Given the description of an element on the screen output the (x, y) to click on. 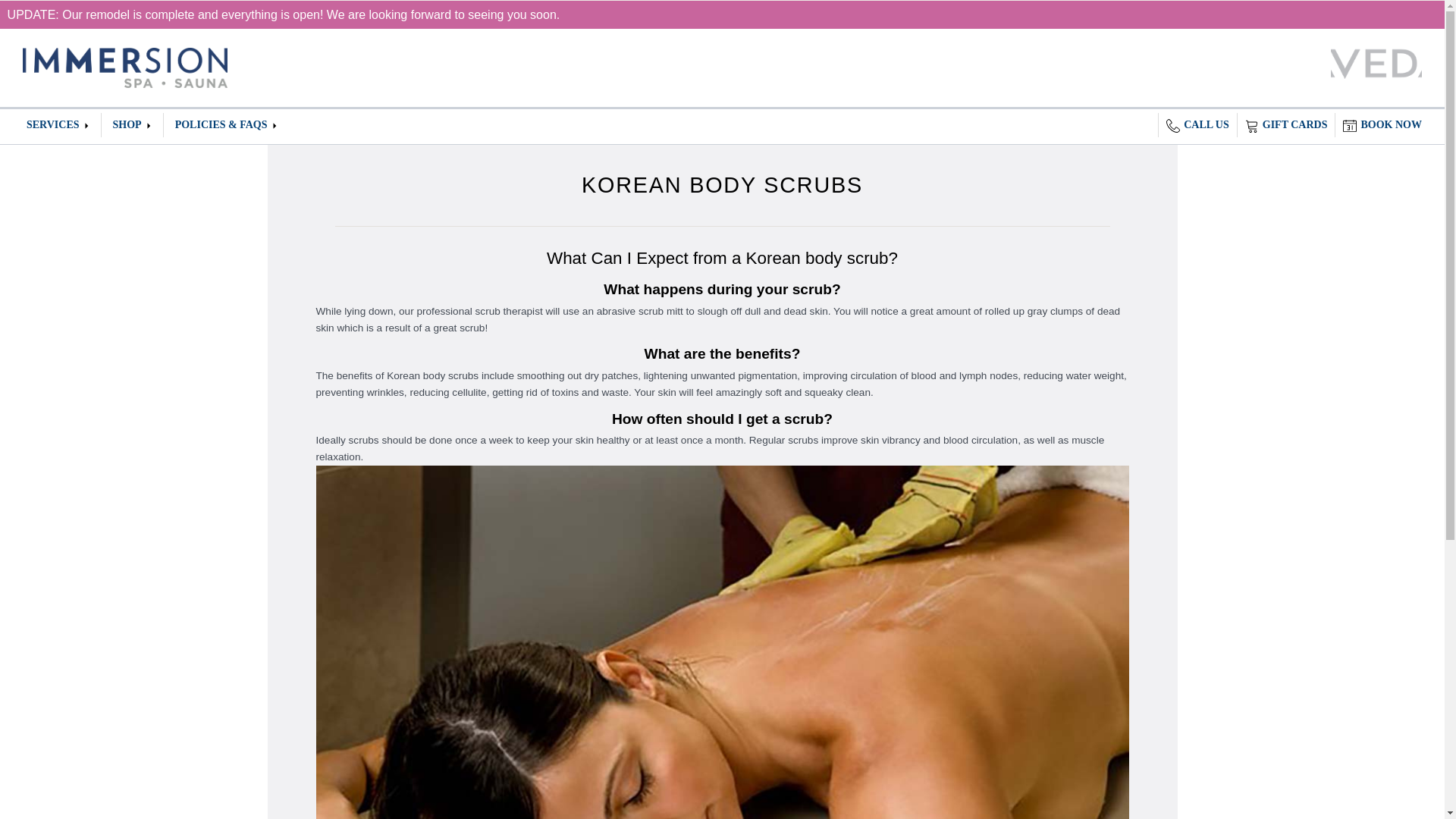
Aveda icon (1376, 62)
Immersion spa icon (125, 67)
SERVICES (57, 125)
BOOK NOW (1382, 125)
CALL US (1197, 125)
SHOP (132, 125)
GIFT CARDS (1286, 125)
